Given the description of an element on the screen output the (x, y) to click on. 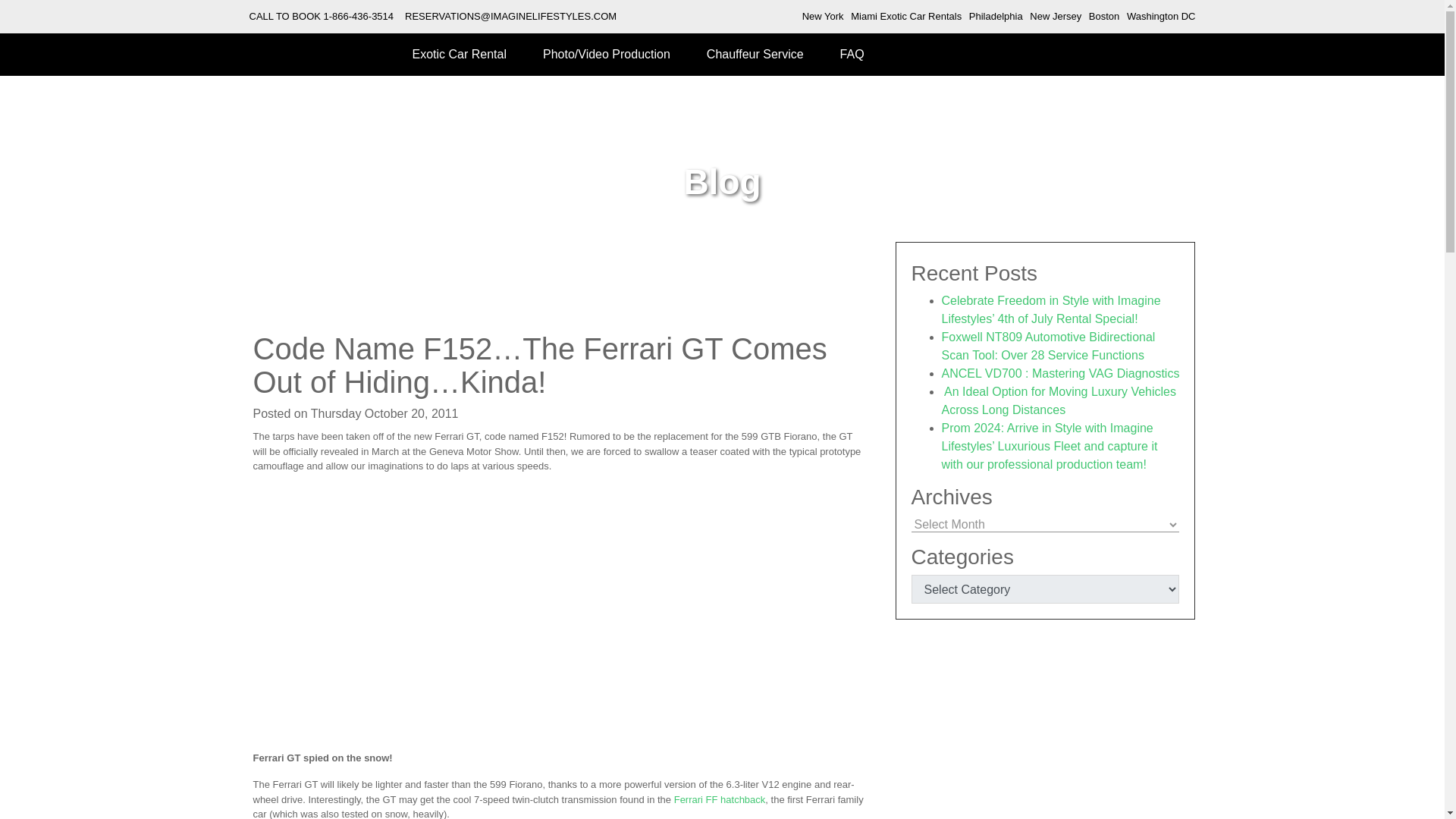
Miami Exotic Car Rentals (905, 16)
Washington DC (1160, 16)
Boston (1104, 16)
New York (823, 16)
18664363514 (358, 16)
Miami (905, 16)
Washington DC (1160, 16)
ANCEL VD700 : Mastering VAG Diagnostics (1060, 373)
Chauffeur Service (755, 54)
New Jersey (1055, 16)
